Given the description of an element on the screen output the (x, y) to click on. 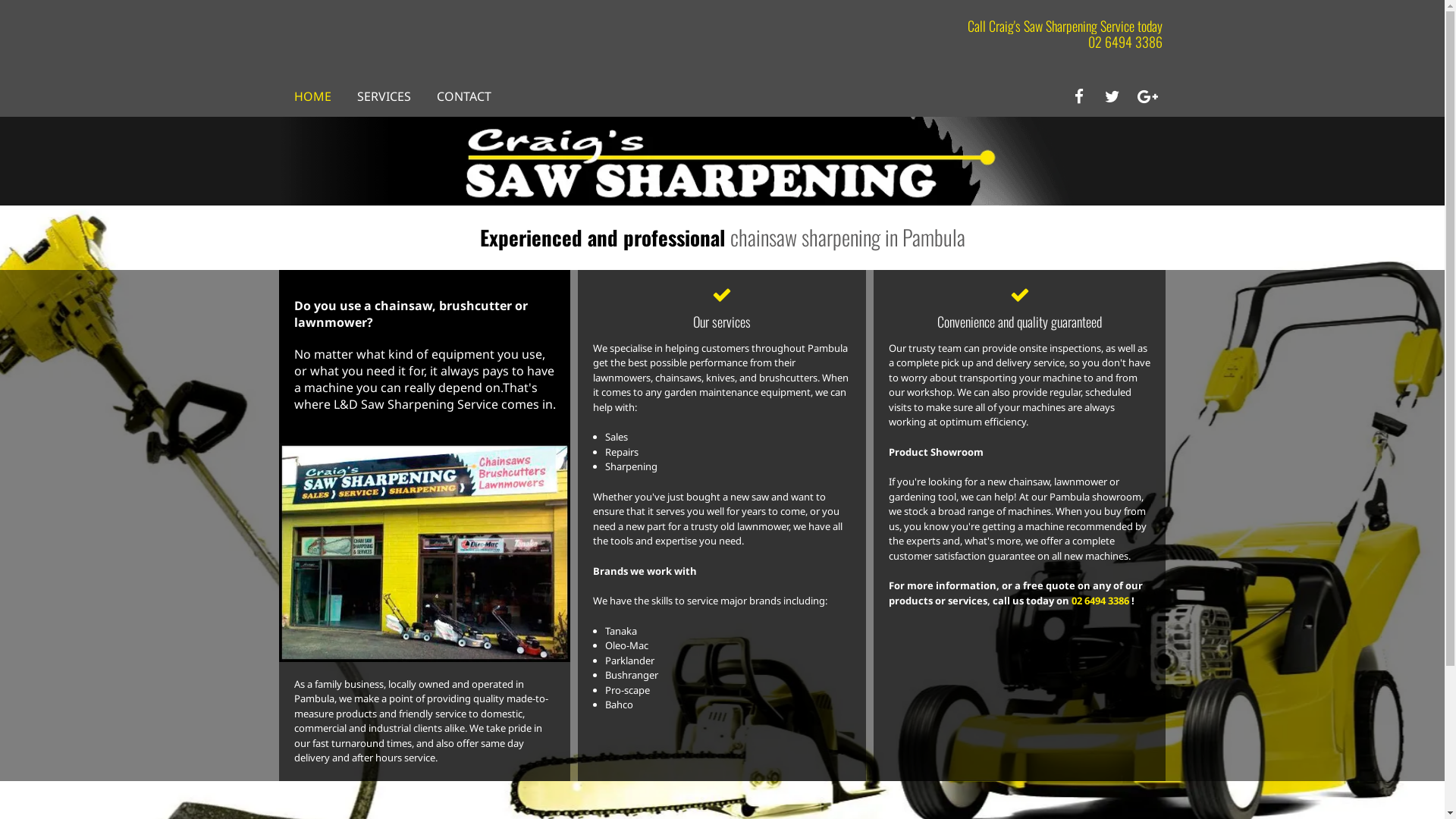
CONTACT Element type: text (463, 96)
02 6494 3386 Element type: text (1100, 600)
02 6494 3386 Element type: text (1124, 41)
Craig's saw sharpening shopfront Element type: hover (425, 552)
HOME Element type: text (312, 96)
SERVICES Element type: text (383, 96)
Craig's saw sharpening logo Element type: hover (722, 160)
